Given the description of an element on the screen output the (x, y) to click on. 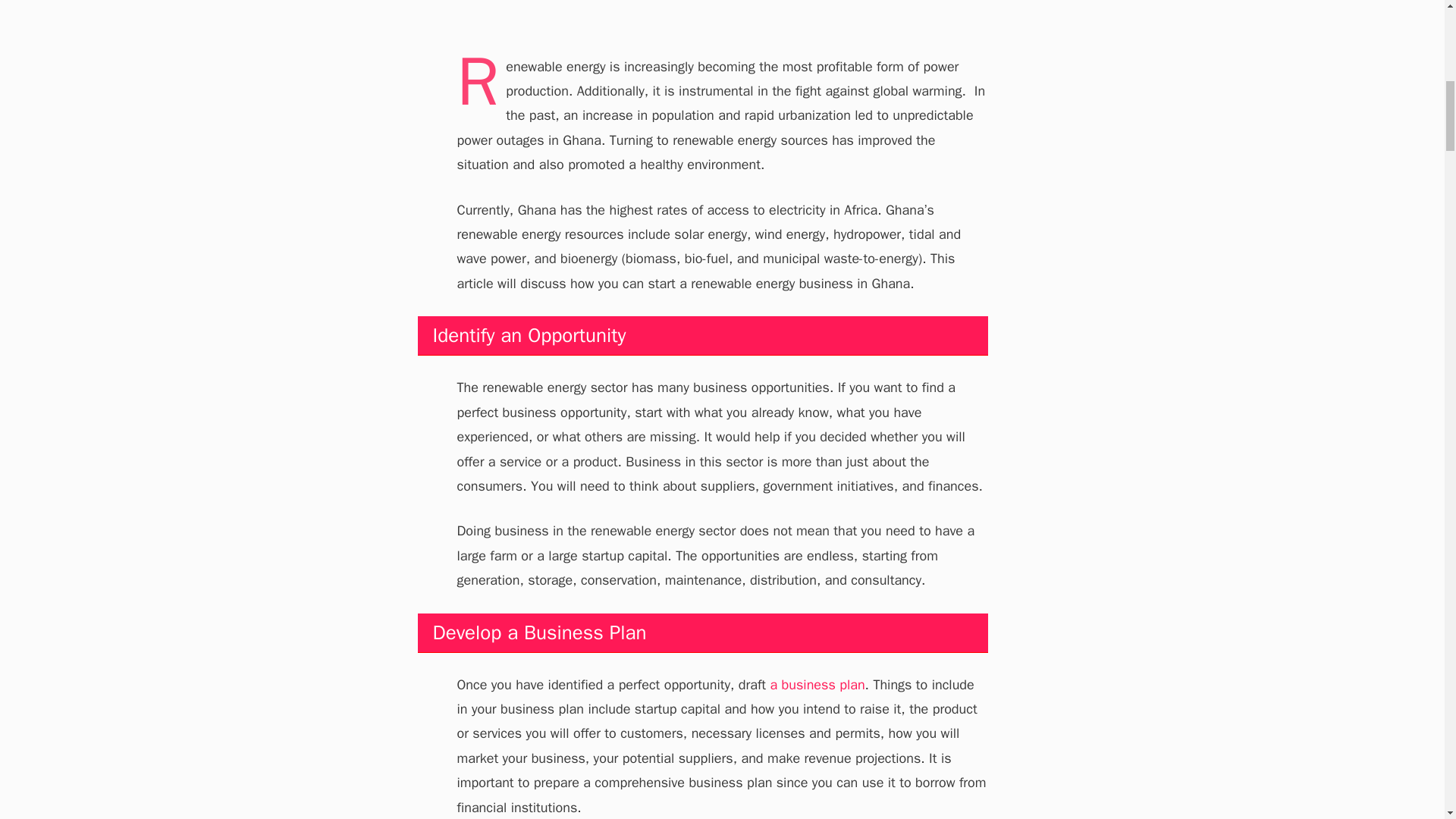
Advertisement (722, 19)
a business plan (814, 684)
